Given the description of an element on the screen output the (x, y) to click on. 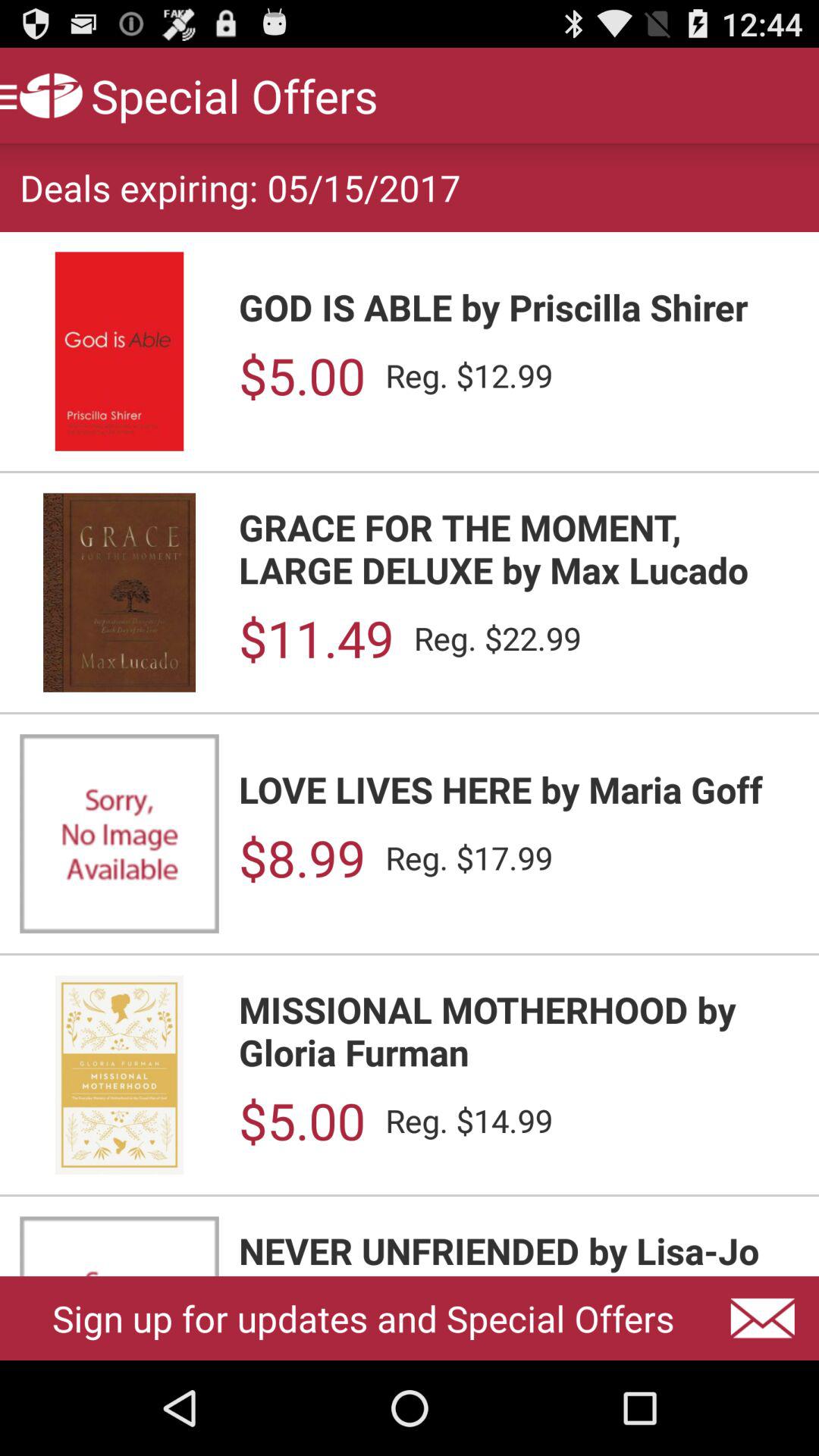
open item below deals expiring 05 icon (518, 306)
